Given the description of an element on the screen output the (x, y) to click on. 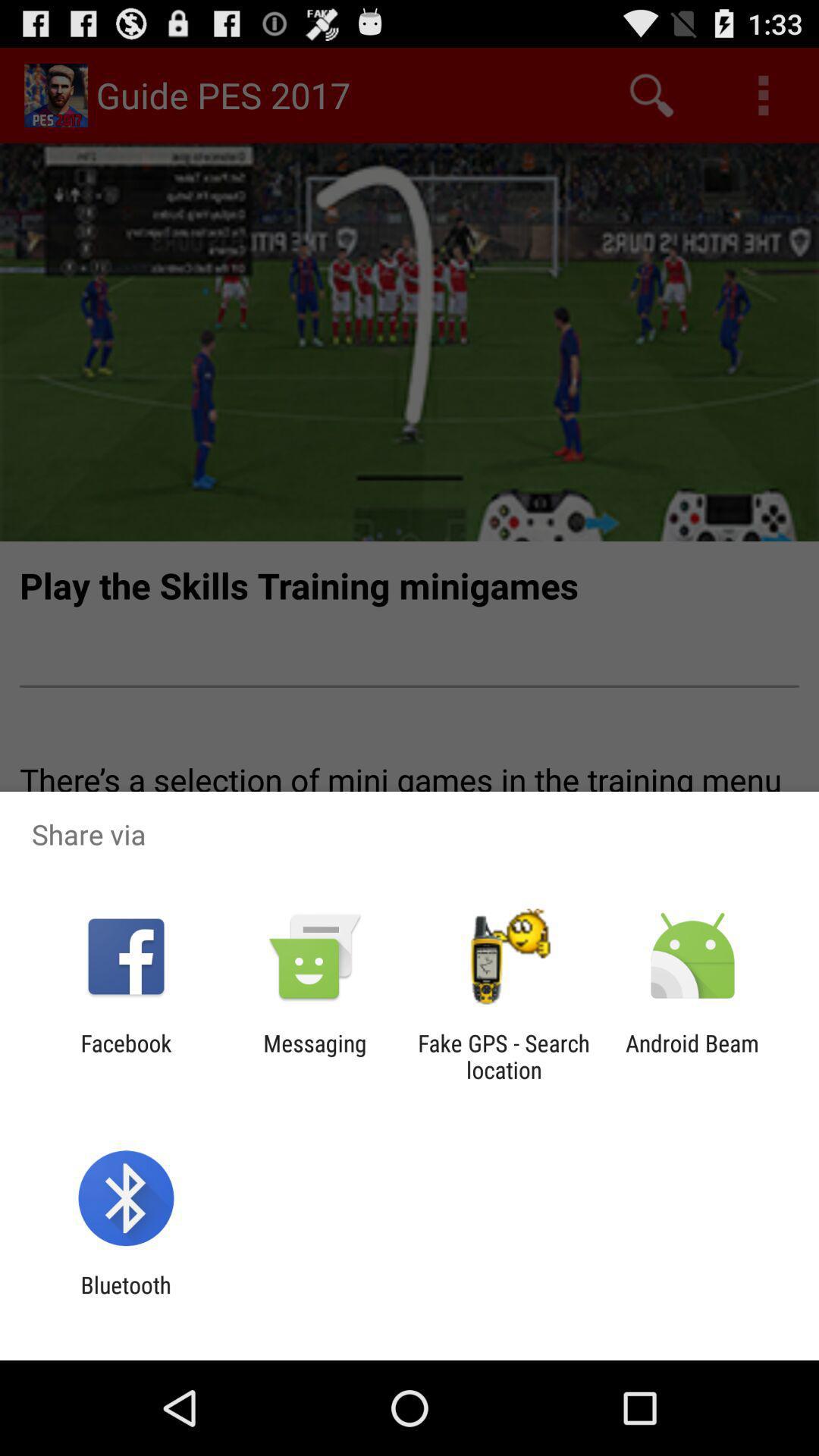
turn on the messaging icon (314, 1056)
